Given the description of an element on the screen output the (x, y) to click on. 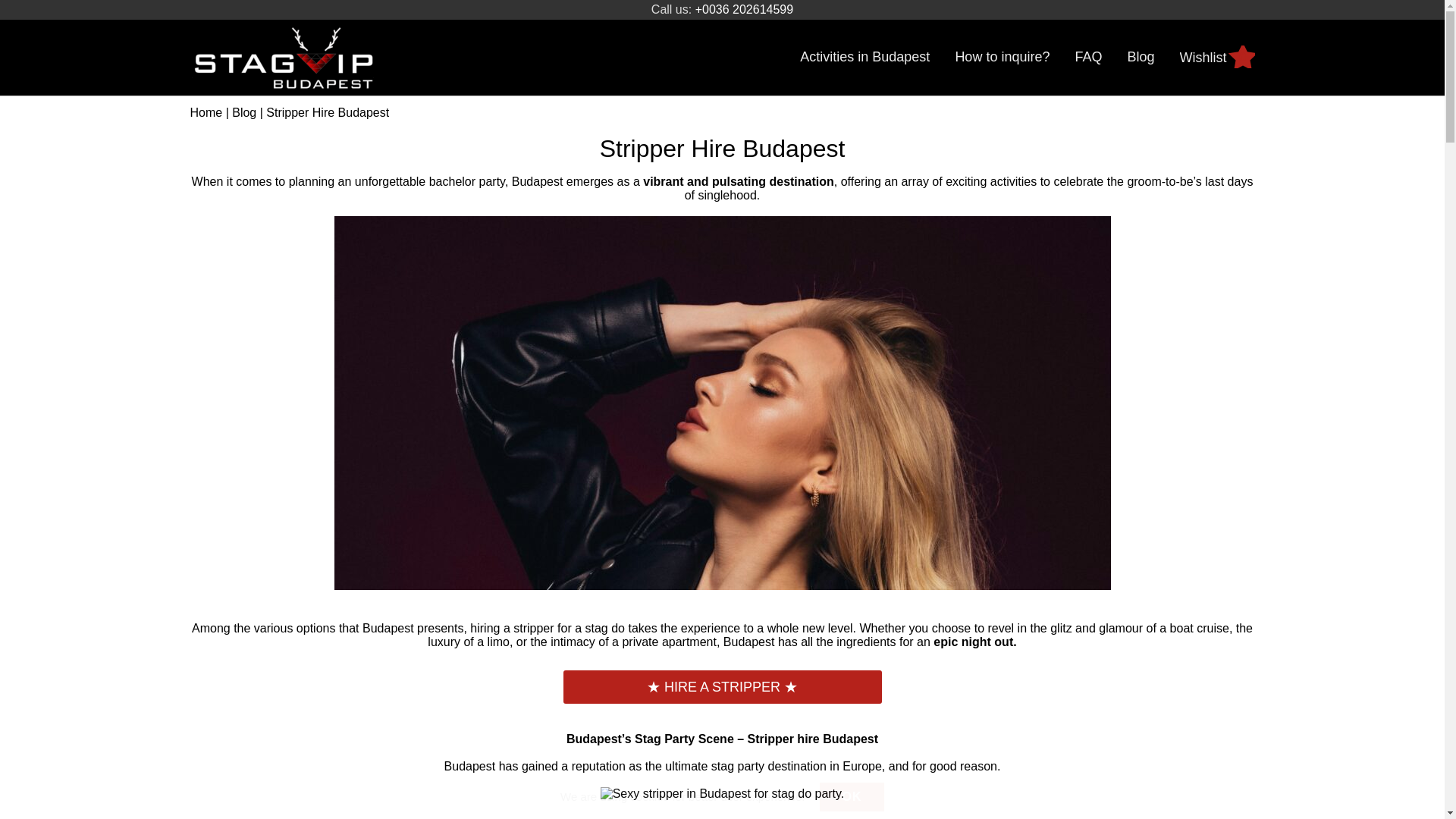
How to inquire? (1002, 56)
Blog (1140, 56)
FAQ (1088, 56)
Blog (1217, 57)
Home (243, 112)
Activities in Budapest (205, 112)
OK (864, 56)
